Given the description of an element on the screen output the (x, y) to click on. 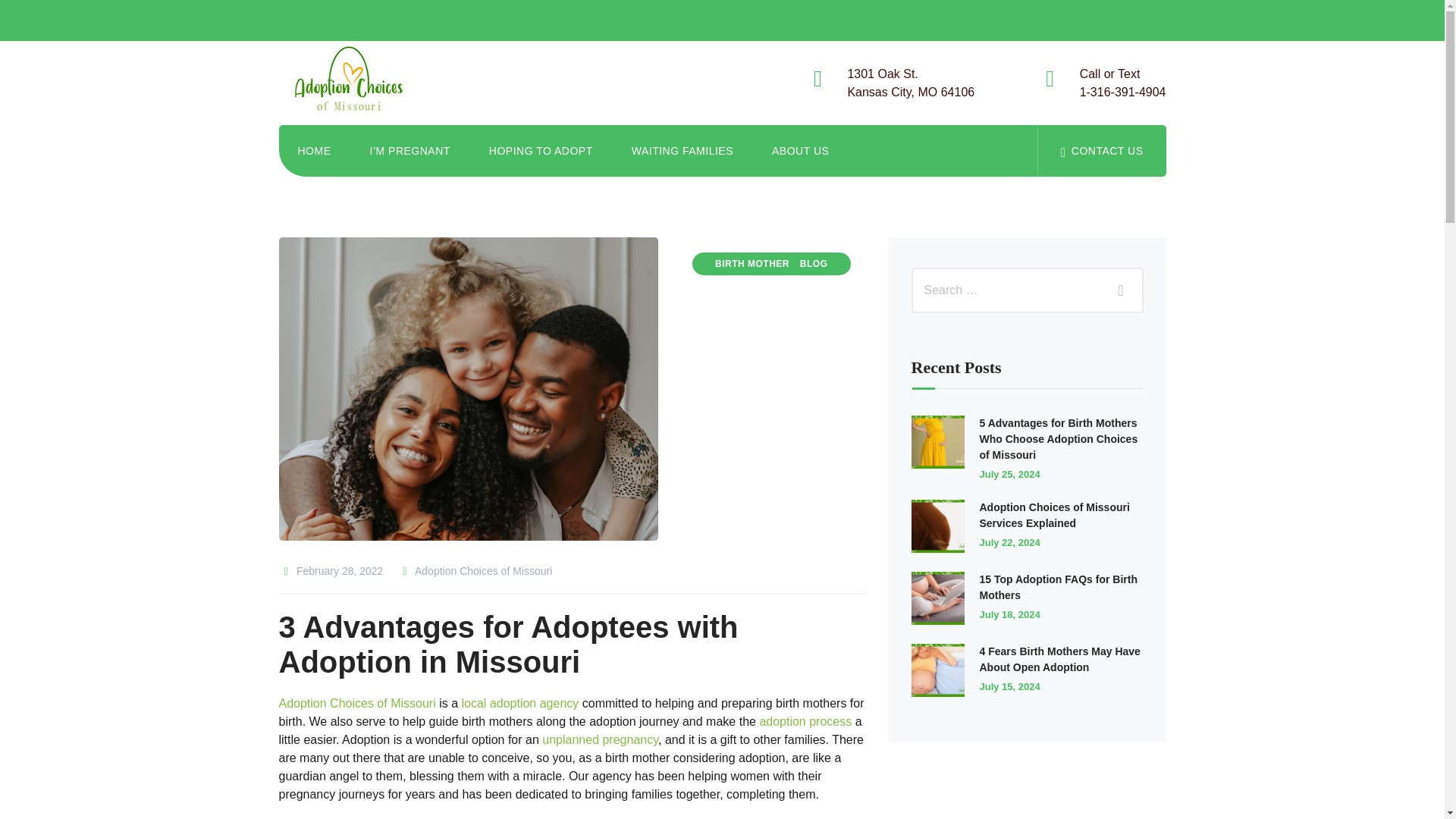
CONTACT US (1101, 150)
Adoption Choices of Missouri (474, 571)
unplanned pregnancy (599, 739)
Search (1116, 289)
ABOUT US (799, 150)
HOPING TO ADOPT (540, 150)
local adoption agency (1123, 83)
WAITING FAMILIES (520, 703)
Adoption Choices of Missouri (682, 150)
HOME (357, 703)
Adoption Choices of Missouri (314, 150)
Posted by Adoption Choices of Missouri (355, 82)
BLOG (474, 571)
